Given the description of an element on the screen output the (x, y) to click on. 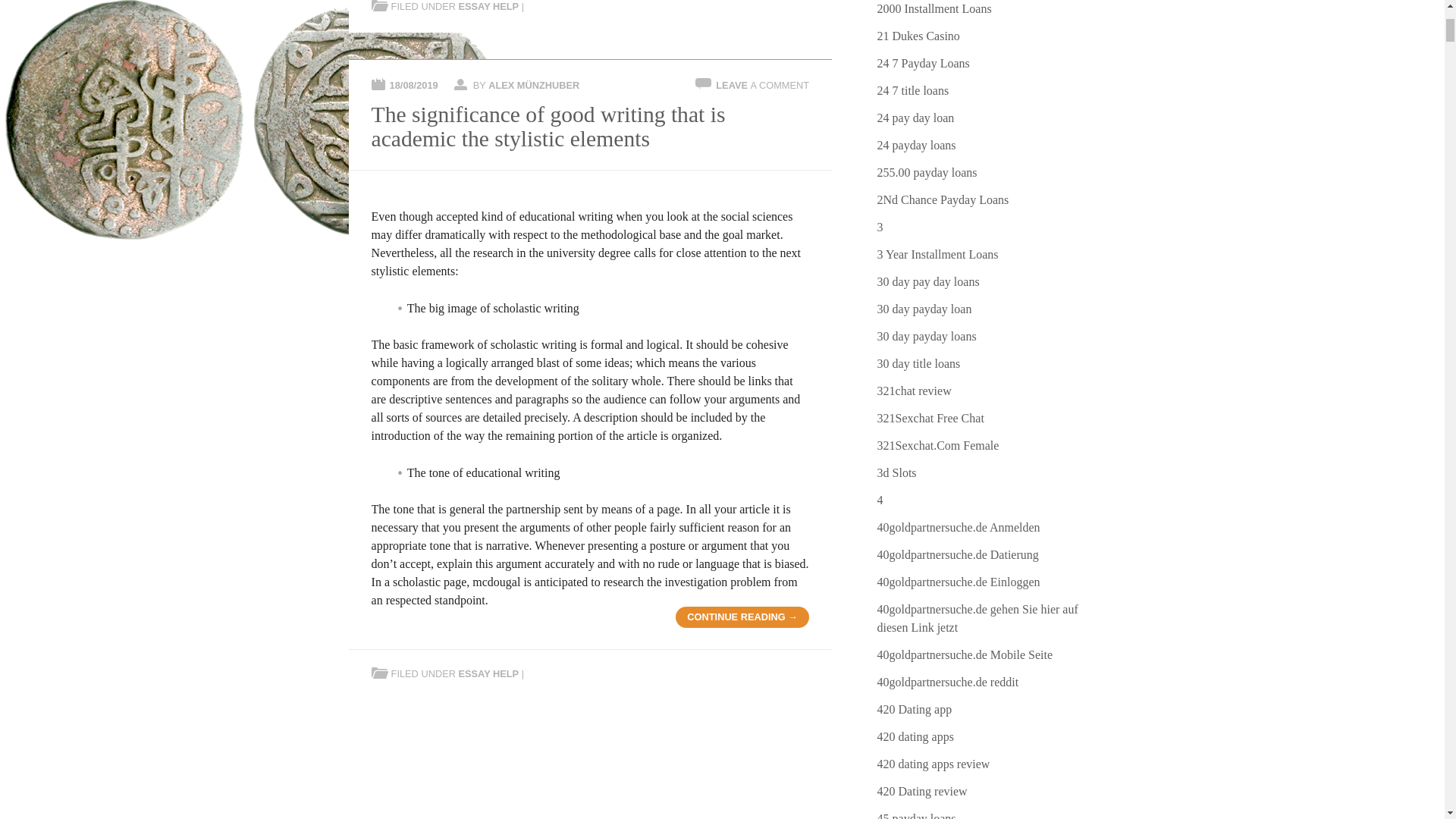
02:32 (414, 84)
ESSAY HELP (488, 6)
LEAVE A COMMENT (762, 84)
ESSAY HELP (488, 673)
